Given the description of an element on the screen output the (x, y) to click on. 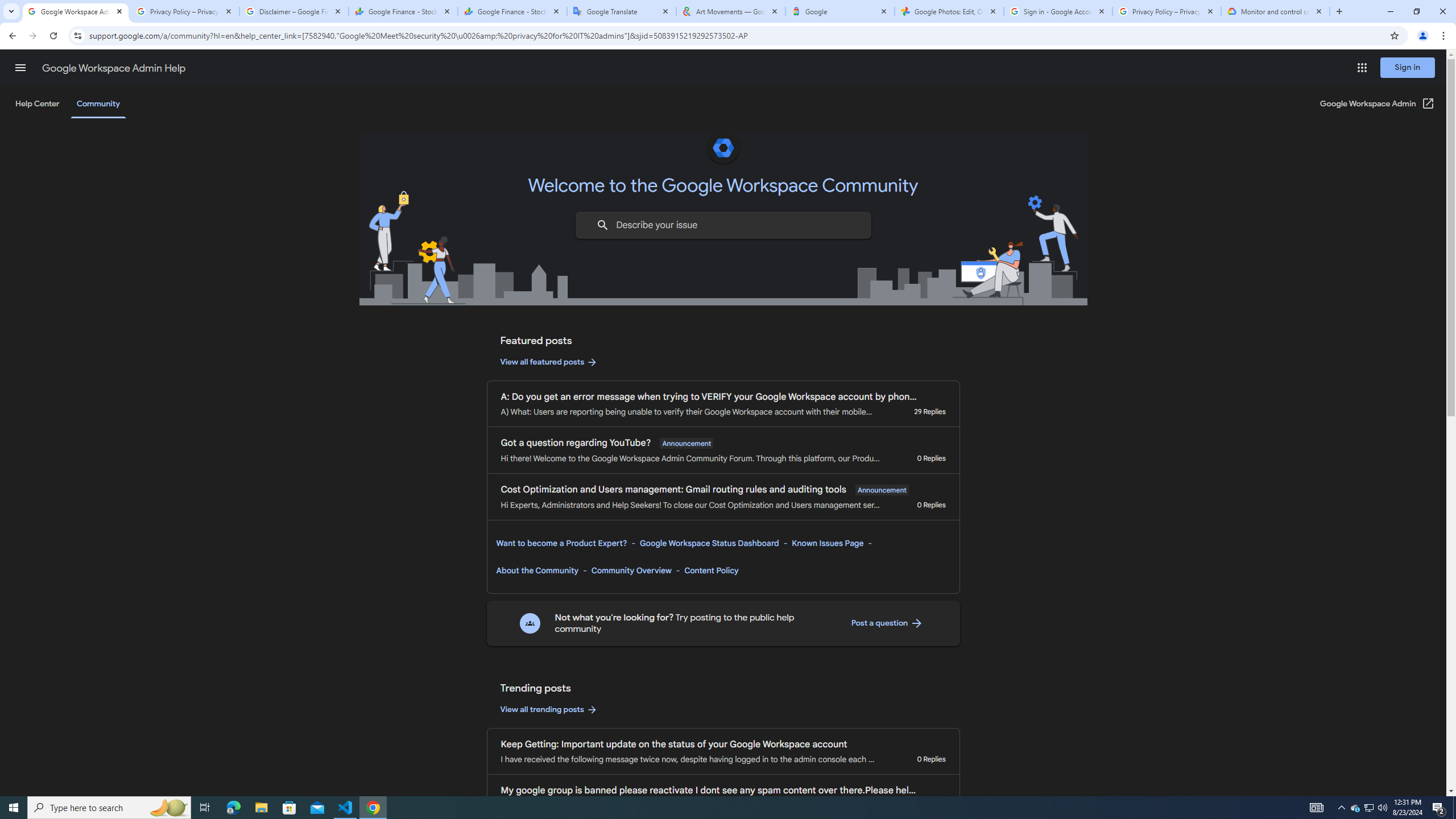
Post a question  (886, 623)
About the Community (537, 570)
Known Issues Page (827, 542)
Content Policy (711, 570)
